Given the description of an element on the screen output the (x, y) to click on. 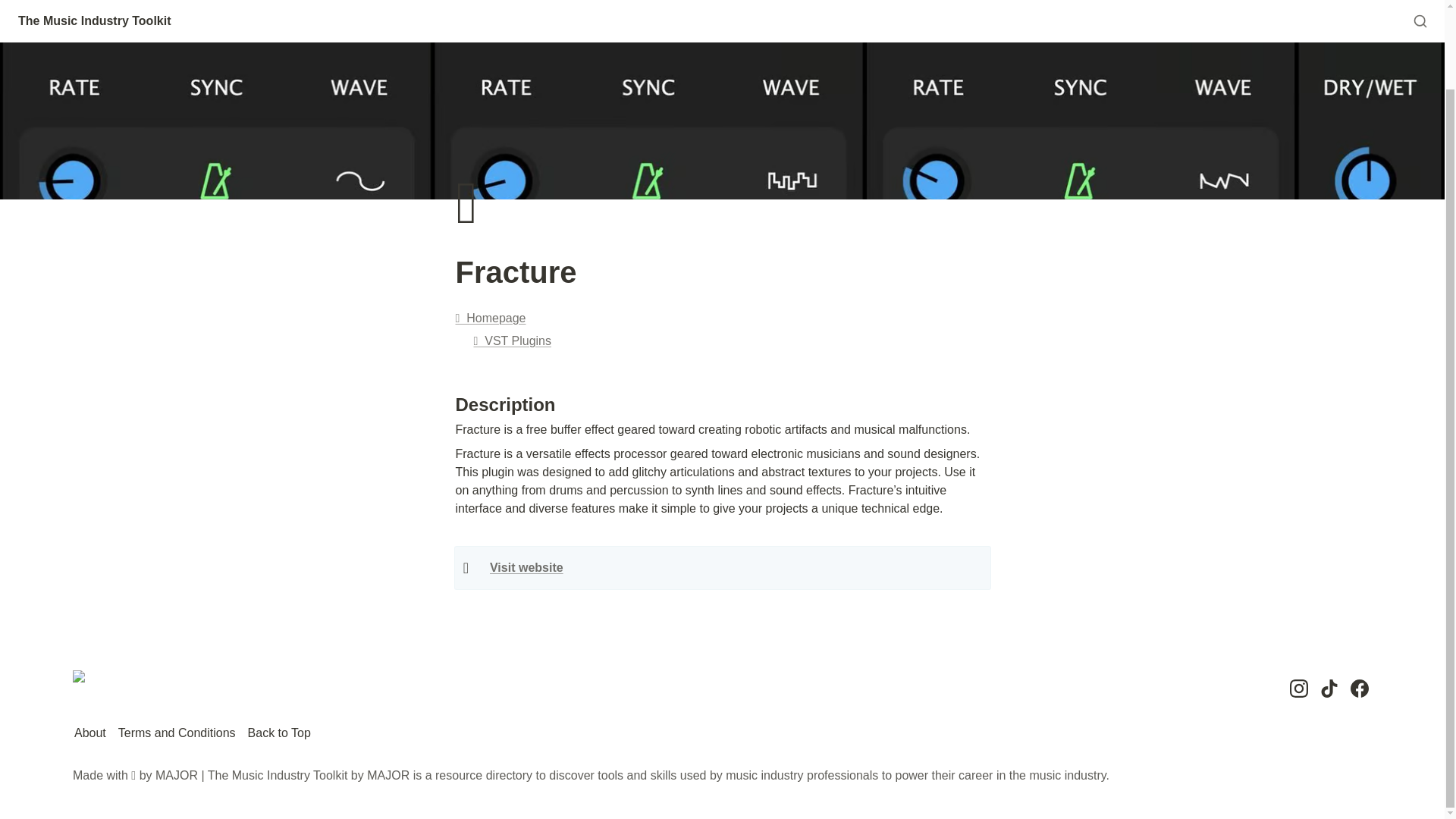
Tiktok (1329, 688)
Back to Top (279, 733)
Facebook (1359, 688)
Terms and Conditions (176, 733)
Tiktok (1329, 688)
Visit website (526, 567)
Instagram (1298, 688)
About (89, 733)
Facebook (1359, 688)
Instagram (1298, 688)
